Given the description of an element on the screen output the (x, y) to click on. 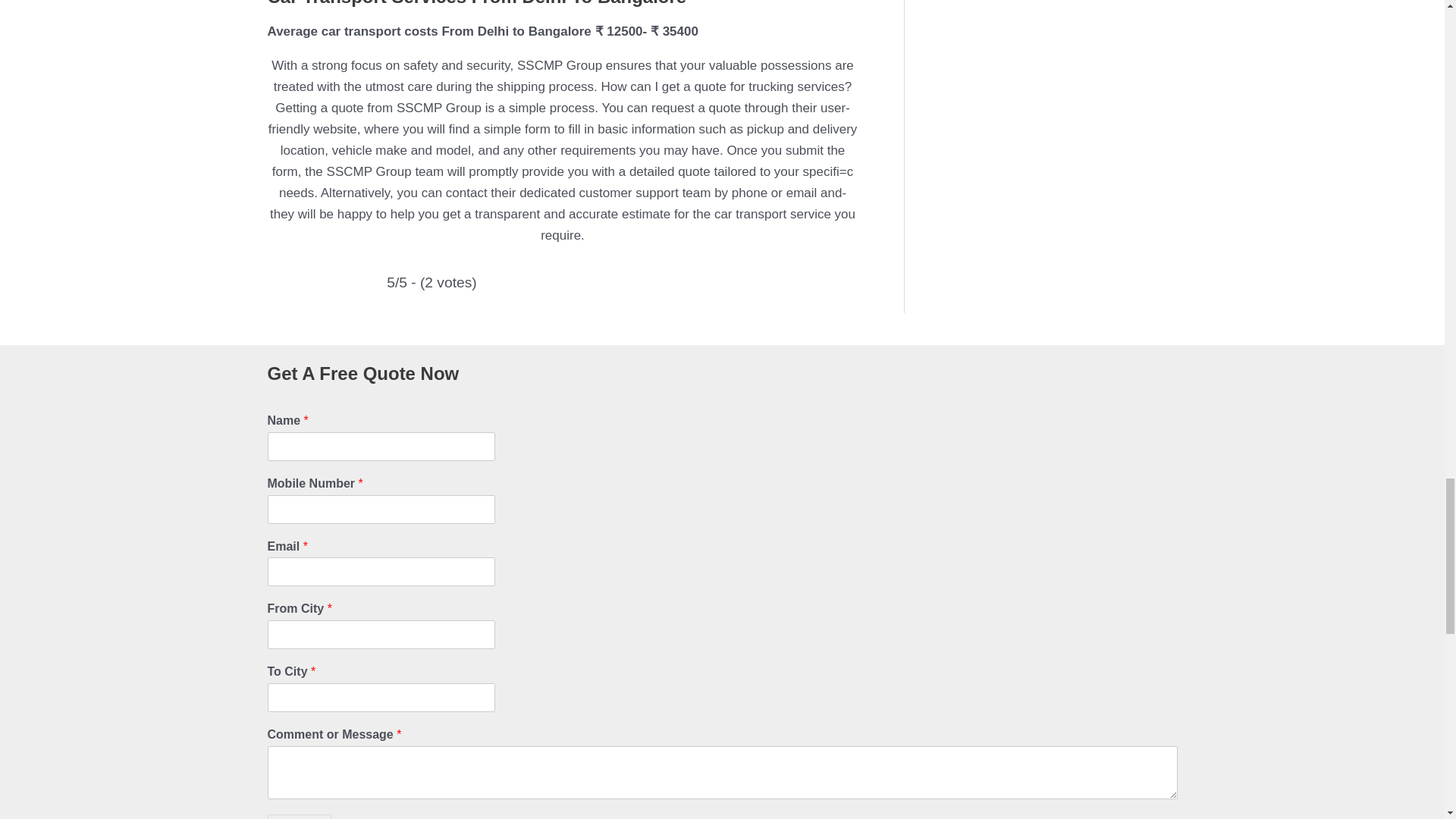
Submit (298, 816)
